Given the description of an element on the screen output the (x, y) to click on. 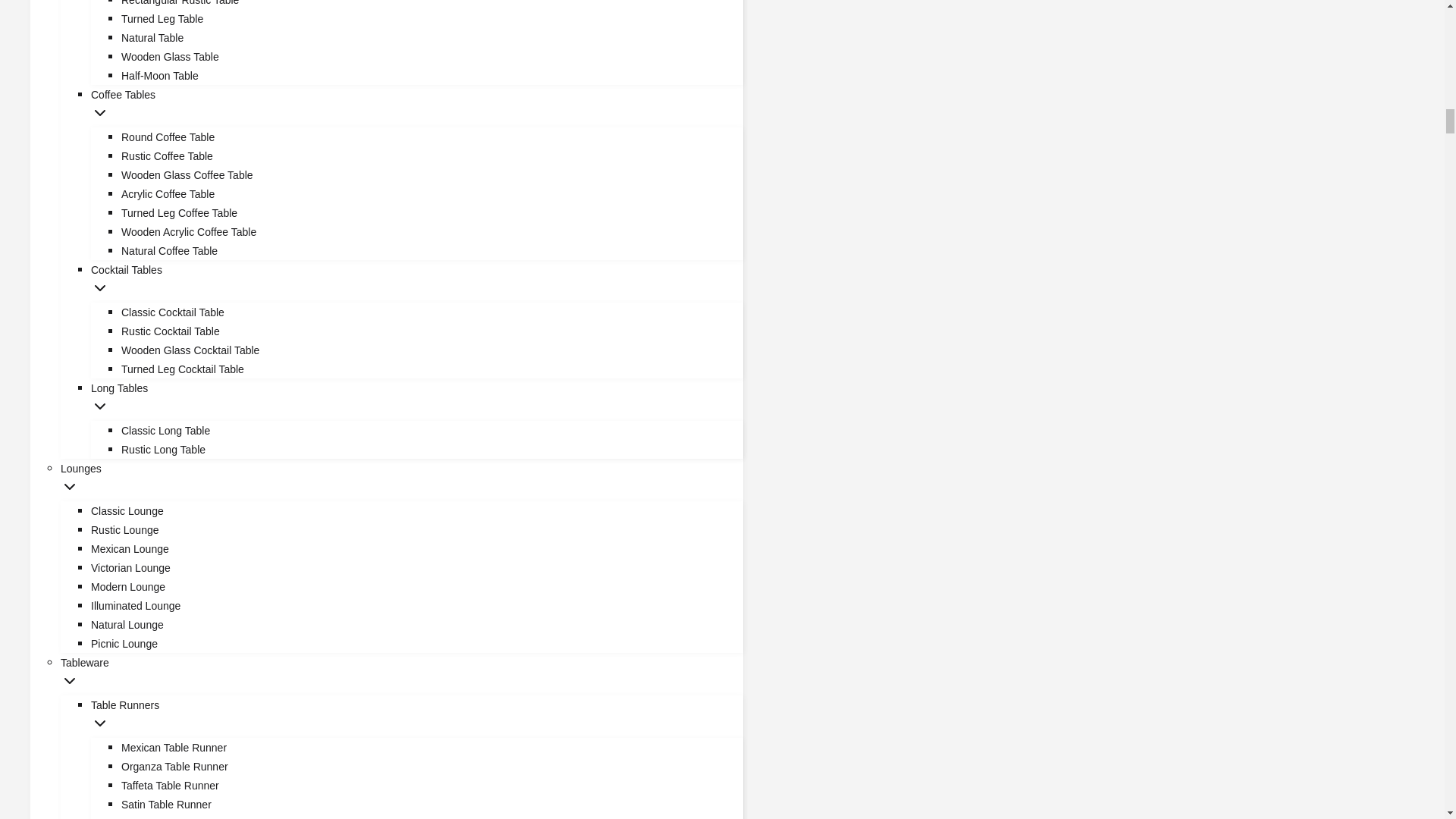
Expand (99, 723)
Classic Cocktail Table (172, 312)
Natural Coffee Table (416, 278)
Turned Leg Coffee Table (168, 250)
Turned Leg Table (178, 213)
Half-Moon Table (161, 18)
Natural Table (159, 75)
Rustic Coffee Table (151, 37)
Expand (166, 155)
Expand (69, 486)
Wooden Glass Table (99, 113)
Wooden Acrylic Coffee Table (169, 56)
Expand (188, 231)
Wooden Glass Coffee Table (99, 406)
